Given the description of an element on the screen output the (x, y) to click on. 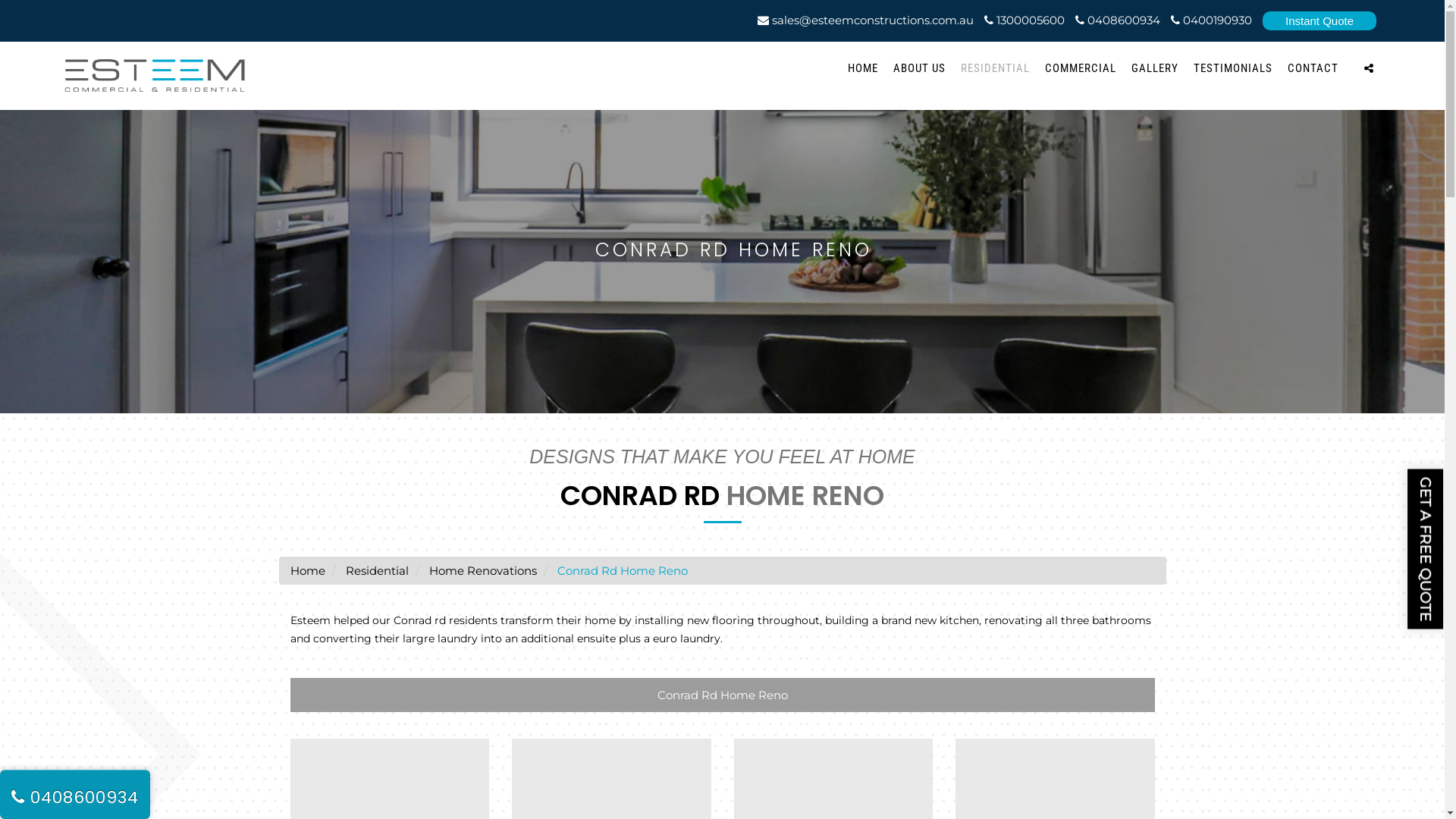
RESIDENTIAL Element type: text (994, 67)
Residential Element type: text (375, 570)
0408600934 Element type: text (74, 797)
Esteem Constructions Element type: hover (155, 76)
Home Element type: text (306, 570)
1300005600 Element type: text (1024, 19)
Conrad Rd Home Reno Element type: text (721, 694)
CONTACT Element type: text (1312, 67)
Instant Quote Element type: text (1319, 20)
GALLERY Element type: text (1154, 67)
HOME Element type: text (862, 67)
0408600934 Element type: text (1117, 19)
ABOUT US Element type: text (919, 67)
Home Renovations Element type: text (482, 570)
sales@esteemconstructions.com.au Element type: text (865, 19)
TESTIMONIALS Element type: text (1232, 67)
COMMERCIAL Element type: text (1080, 67)
0400190930 Element type: text (1211, 19)
